Given the description of an element on the screen output the (x, y) to click on. 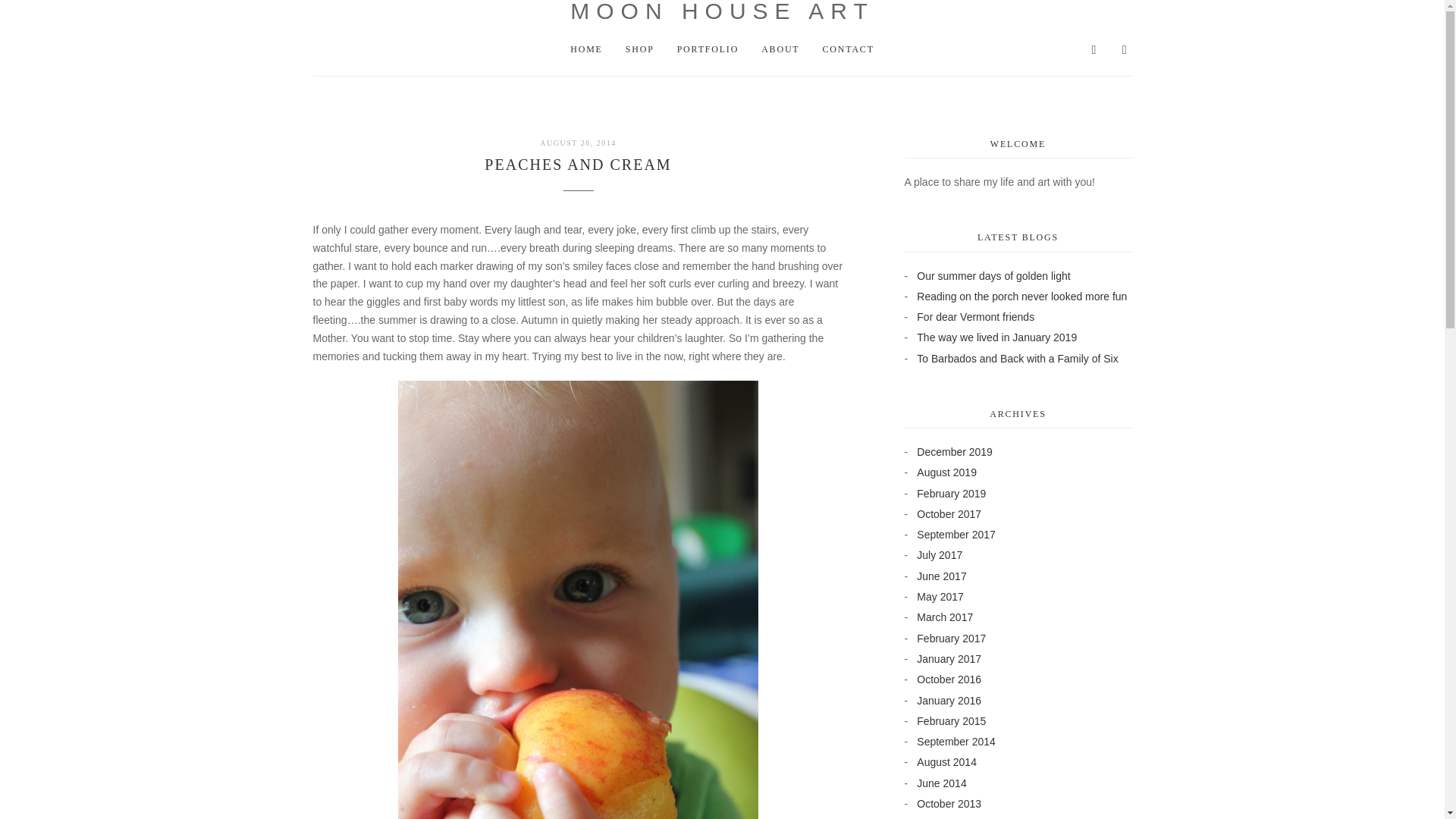
March 2017 (944, 616)
February 2015 (951, 720)
September 2017 (956, 534)
August 2019 (946, 472)
The way we lived in January 2019 (997, 337)
SHOP (639, 48)
August 2014 (946, 761)
HOME (586, 48)
February 2017 (951, 638)
To Barbados and Back with a Family of Six (1017, 358)
